Given the description of an element on the screen output the (x, y) to click on. 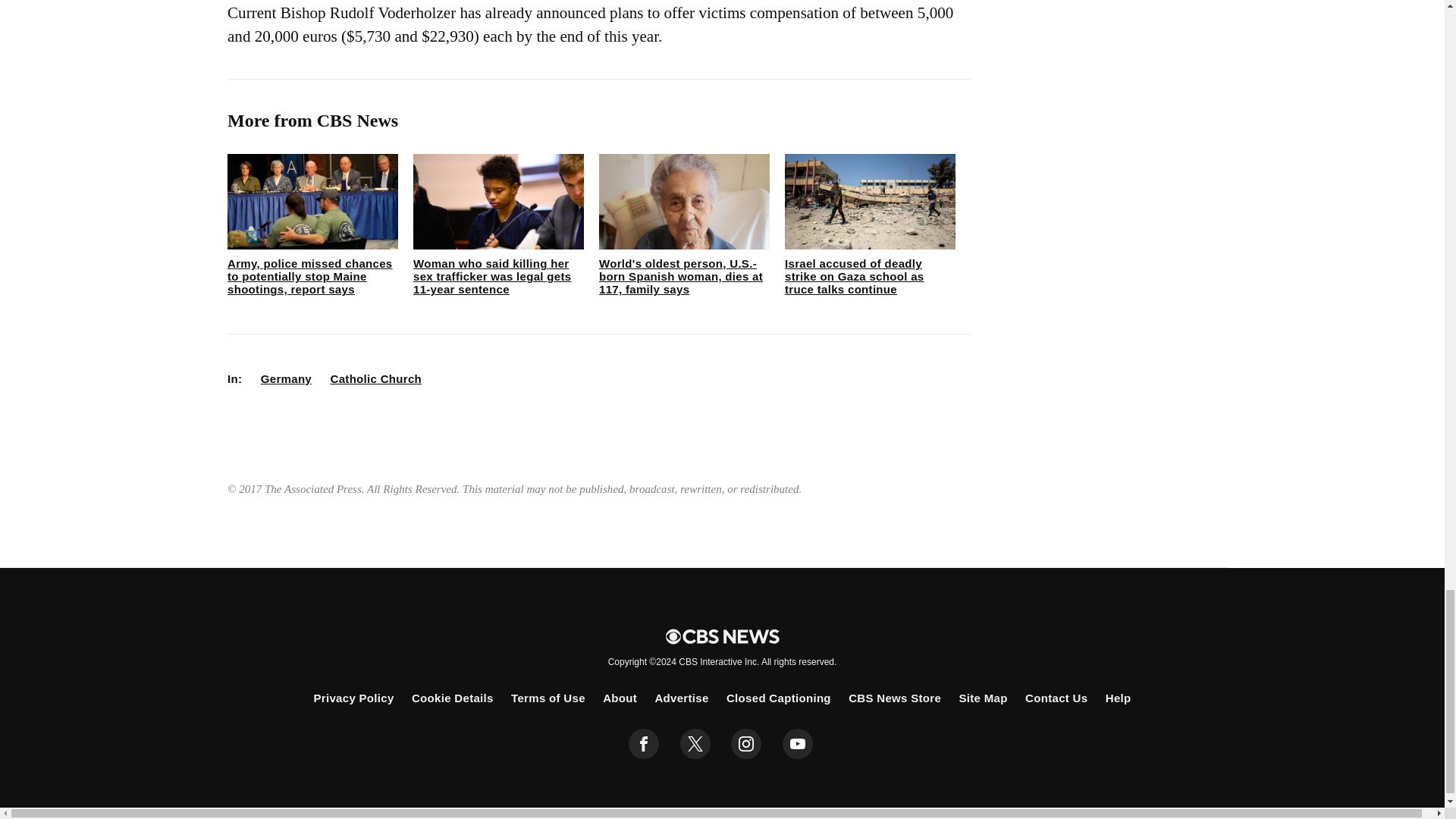
twitter (694, 743)
facebook (643, 743)
instagram (745, 743)
youtube (797, 743)
